Given the description of an element on the screen output the (x, y) to click on. 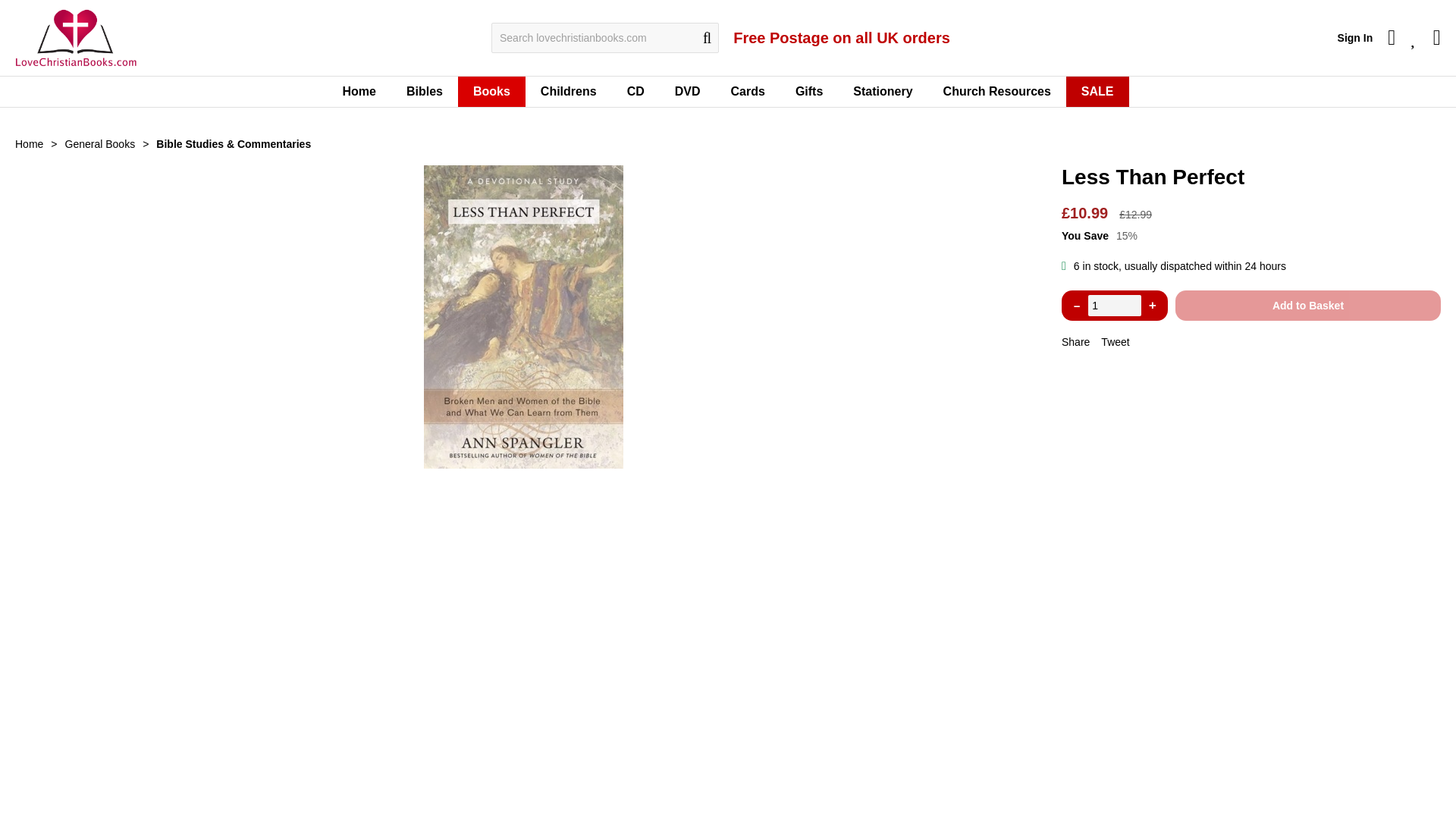
Buy all the resources for your church here (996, 91)
Christian Stationery and Novelties (882, 91)
Bibles (424, 91)
1 (1114, 305)
Wide Range of Popular Bibles Including KJV, NIV, NLT (424, 91)
Christian Books from Popular Authors (491, 91)
Home (358, 91)
Individual Christian Greetings Cards, with Scripture Verses (748, 91)
Books (491, 91)
Bargain Christian Products all at Great Prices (1097, 91)
Christian Gifts for all Occasions (809, 91)
Christian Films for all Ages on DVD (687, 91)
Sign In (1355, 37)
